Given the description of an element on the screen output the (x, y) to click on. 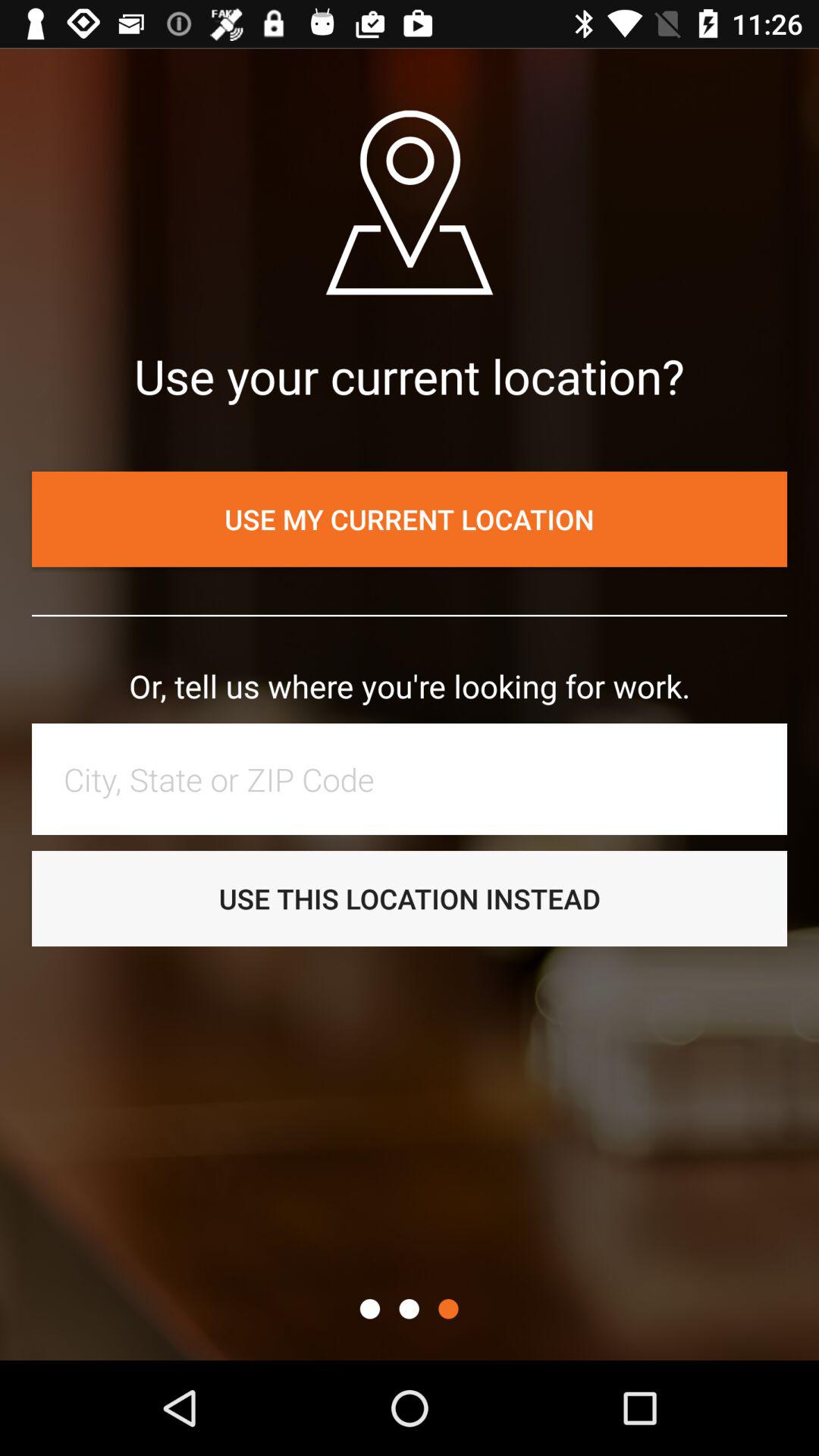
insert the location (417, 778)
